Given the description of an element on the screen output the (x, y) to click on. 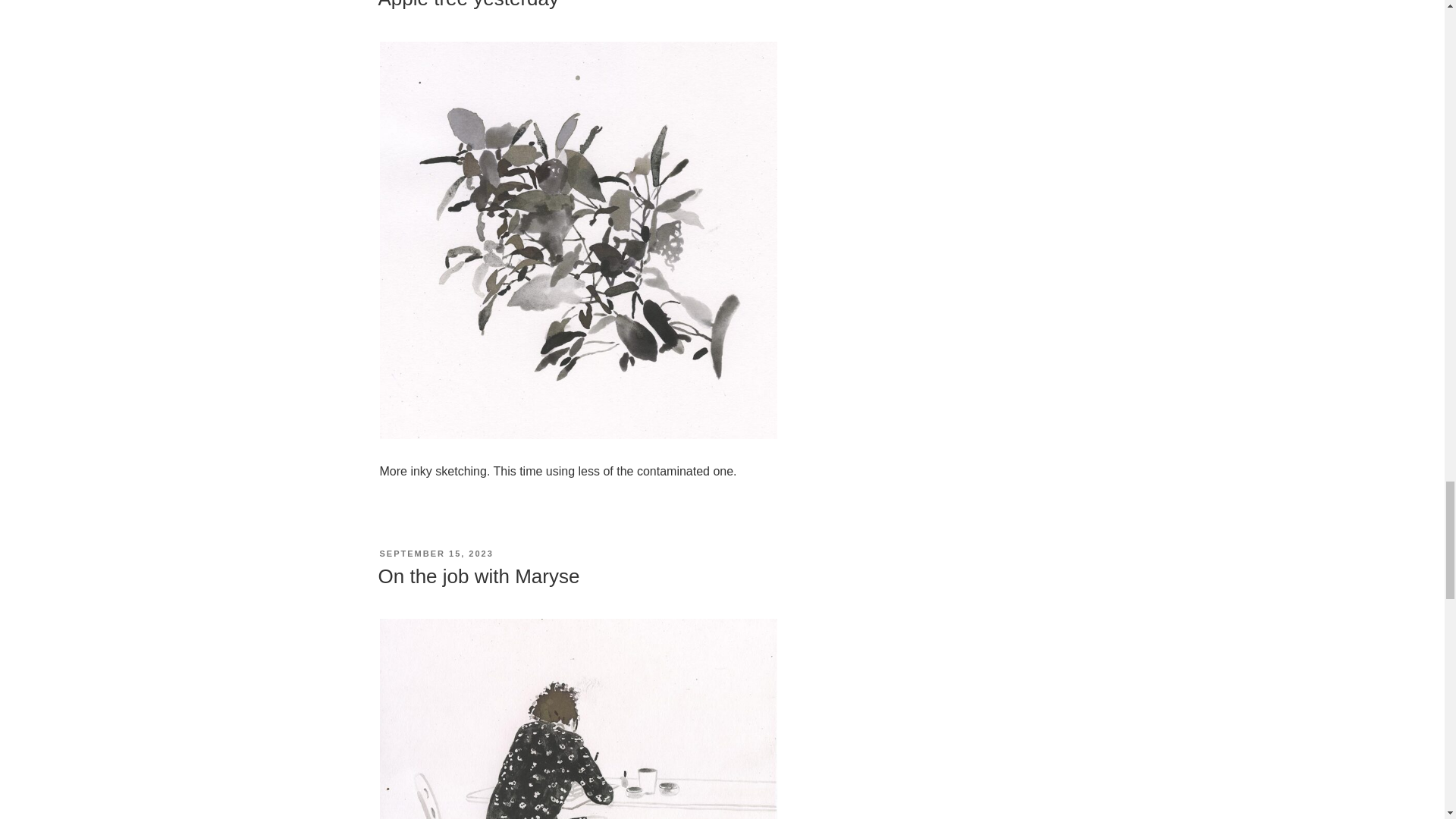
On the job with Maryse (478, 576)
SEPTEMBER 15, 2023 (435, 552)
Apple tree yesterday (467, 4)
